Given the description of an element on the screen output the (x, y) to click on. 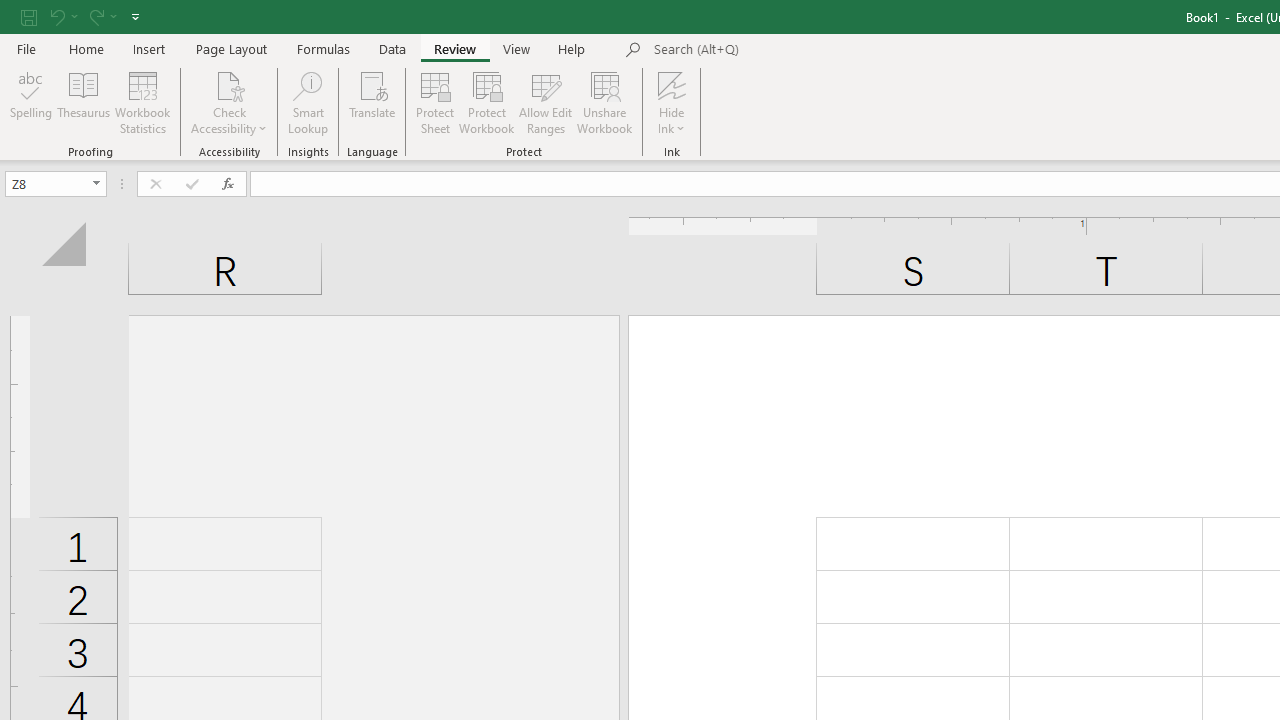
Hide Ink (671, 84)
Translate (372, 102)
Unshare Workbook (604, 102)
Protect Workbook... (486, 102)
